Given the description of an element on the screen output the (x, y) to click on. 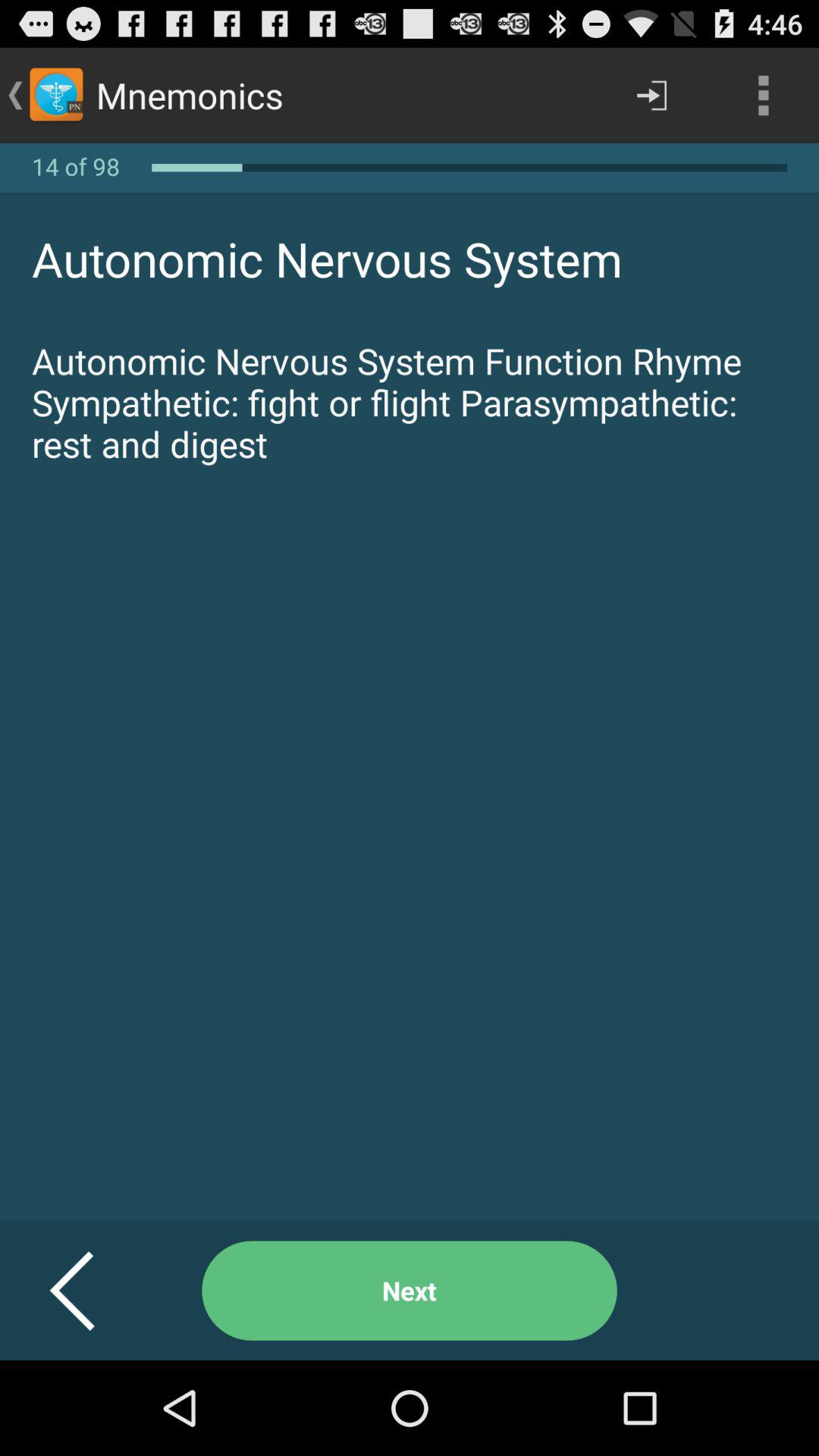
select icon to the left of next item (91, 1290)
